Given the description of an element on the screen output the (x, y) to click on. 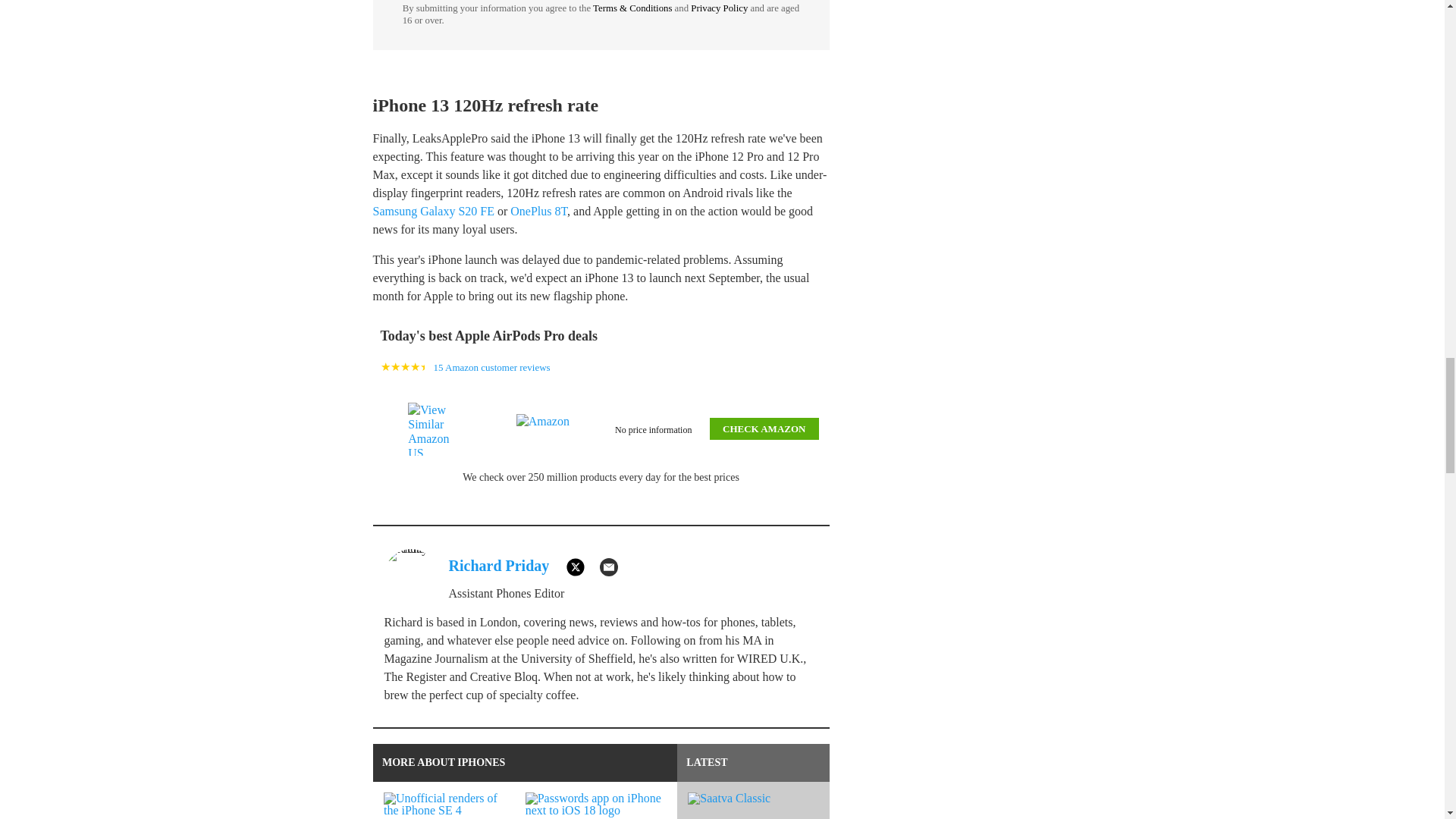
View Similar Amazon US (437, 428)
Amazon (546, 429)
